Given the description of an element on the screen output the (x, y) to click on. 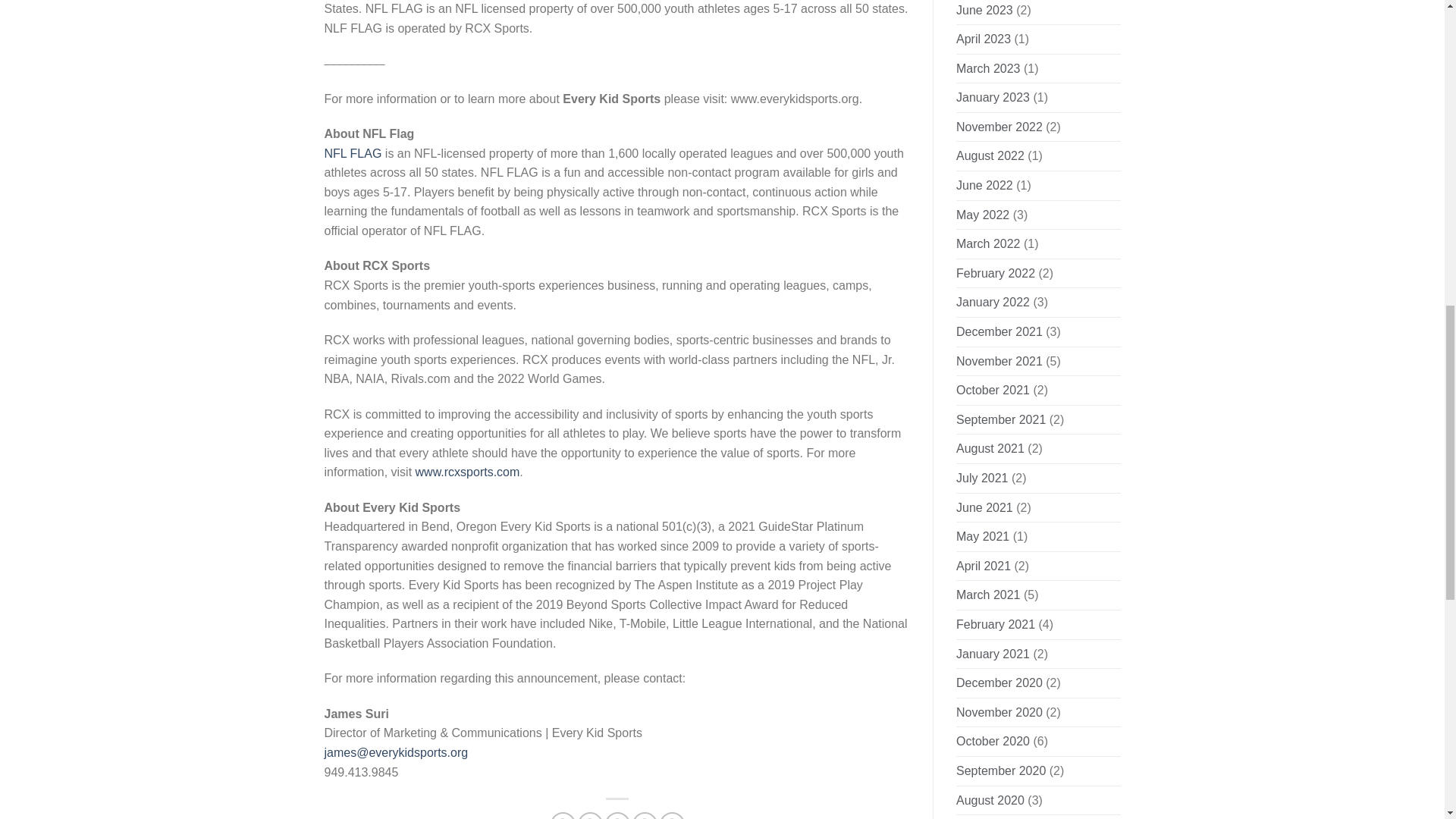
www.rcxsports.com (466, 472)
Share on Twitter (590, 815)
Email to a Friend (617, 815)
Pin on Pinterest (644, 815)
NFL FLAG (352, 153)
Share on Facebook (562, 815)
Share on LinkedIn (671, 815)
